Given the description of an element on the screen output the (x, y) to click on. 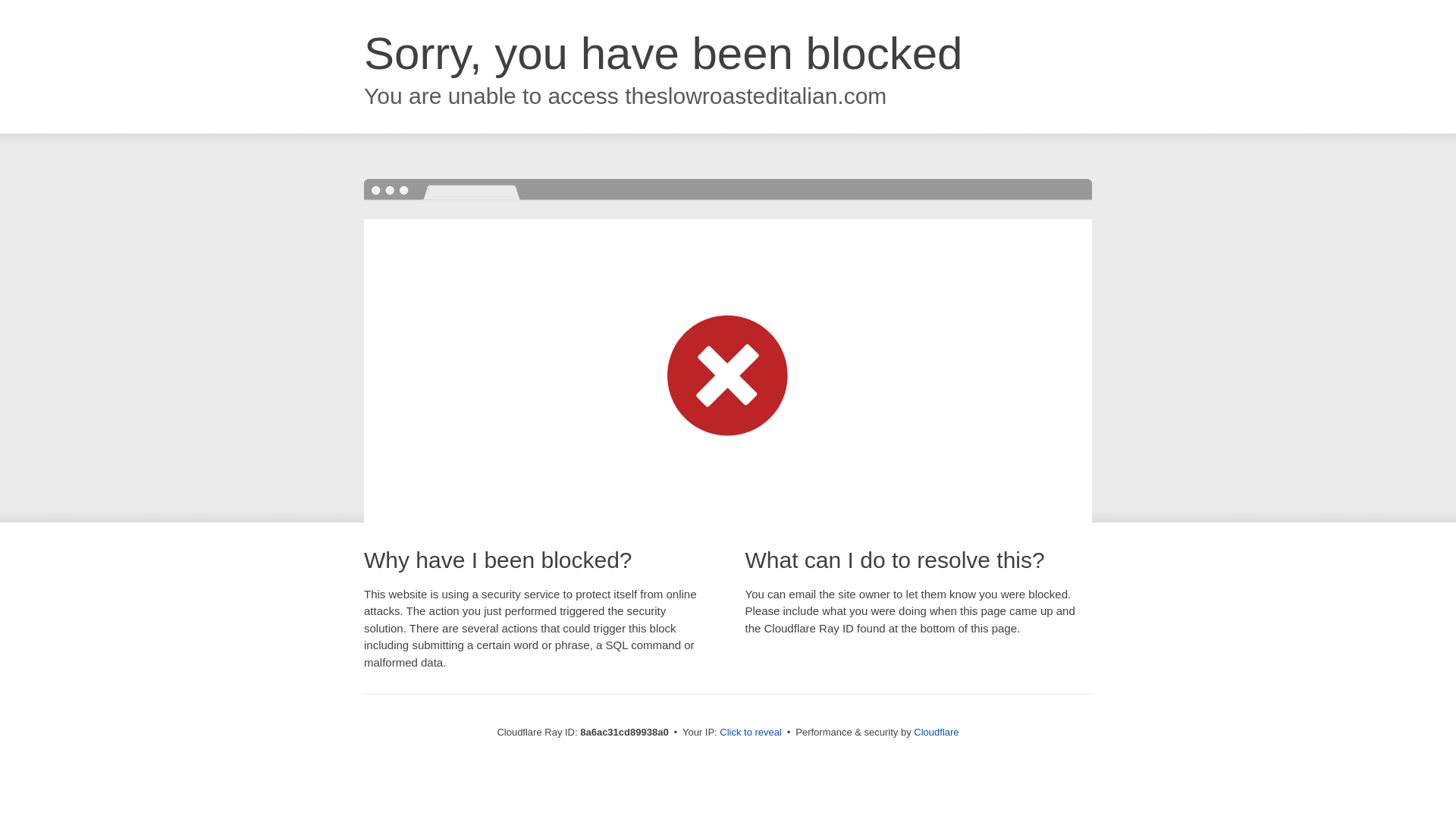
Cloudflare (936, 731)
Click to reveal (750, 732)
